Given the description of an element on the screen output the (x, y) to click on. 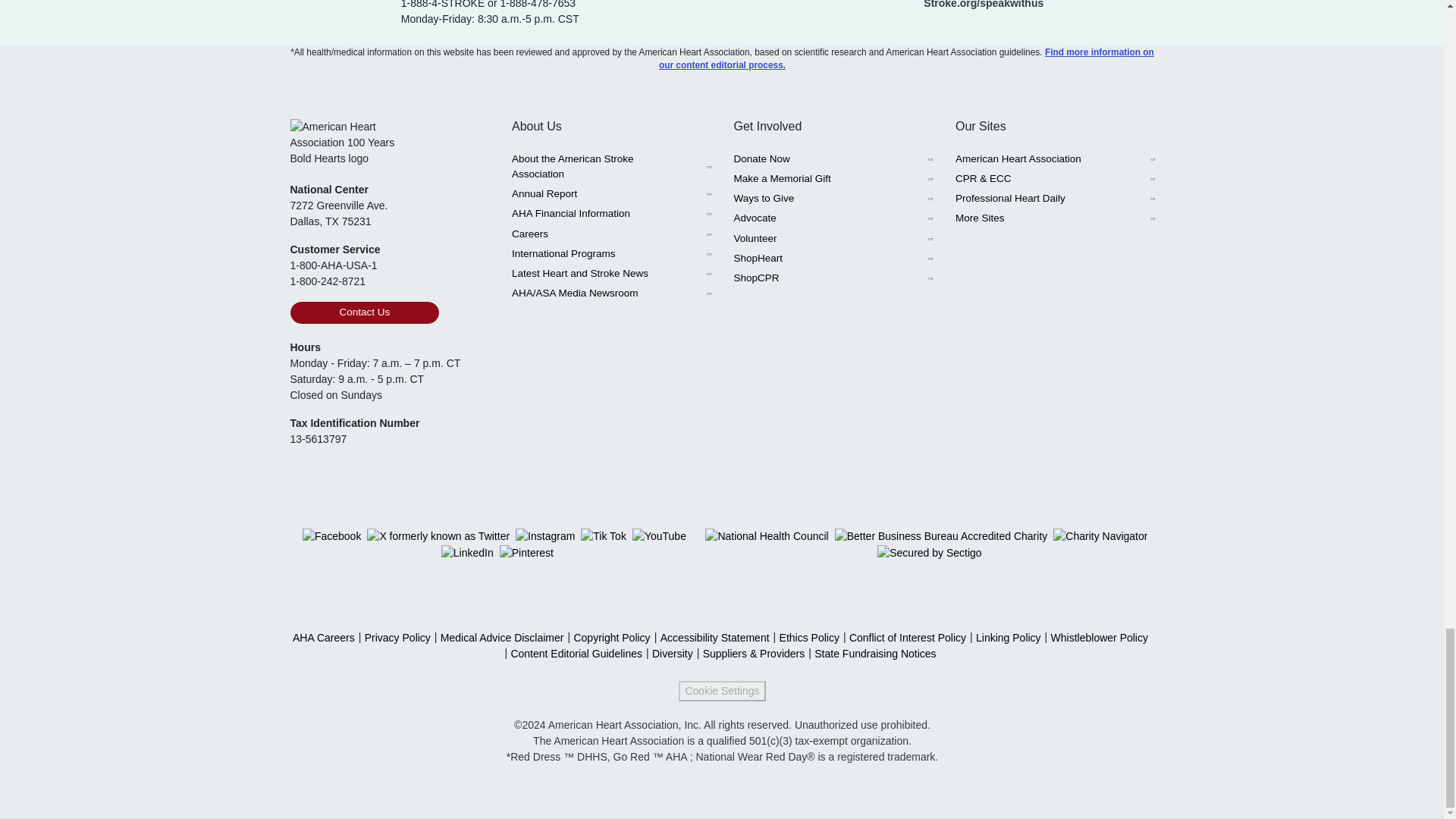
Careers (611, 234)
Annual Report (611, 193)
ShopHeart (833, 258)
ShopCPR (833, 278)
About the American Stroke Association (611, 167)
About the American Stroke Association (611, 167)
Donate Now (833, 158)
Annual Report (611, 193)
International Programs (611, 253)
Latest Heart and Stroke News (611, 273)
American Heart Association (1054, 158)
Advocate (833, 218)
Contact Us (364, 312)
Make a Memorial Gift (833, 178)
Make a Memorial Gift (833, 178)
